Given the description of an element on the screen output the (x, y) to click on. 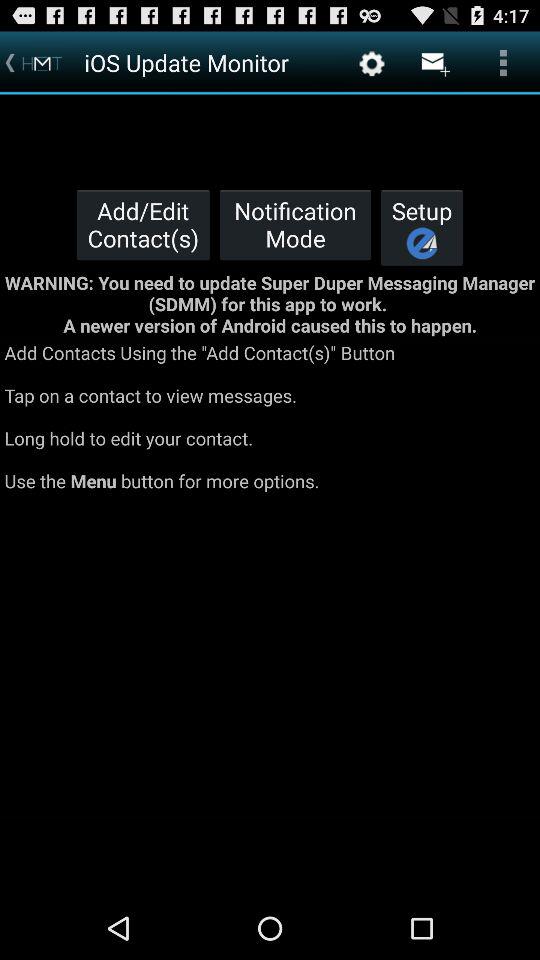
turn off button next to the notification
mode icon (422, 227)
